Given the description of an element on the screen output the (x, y) to click on. 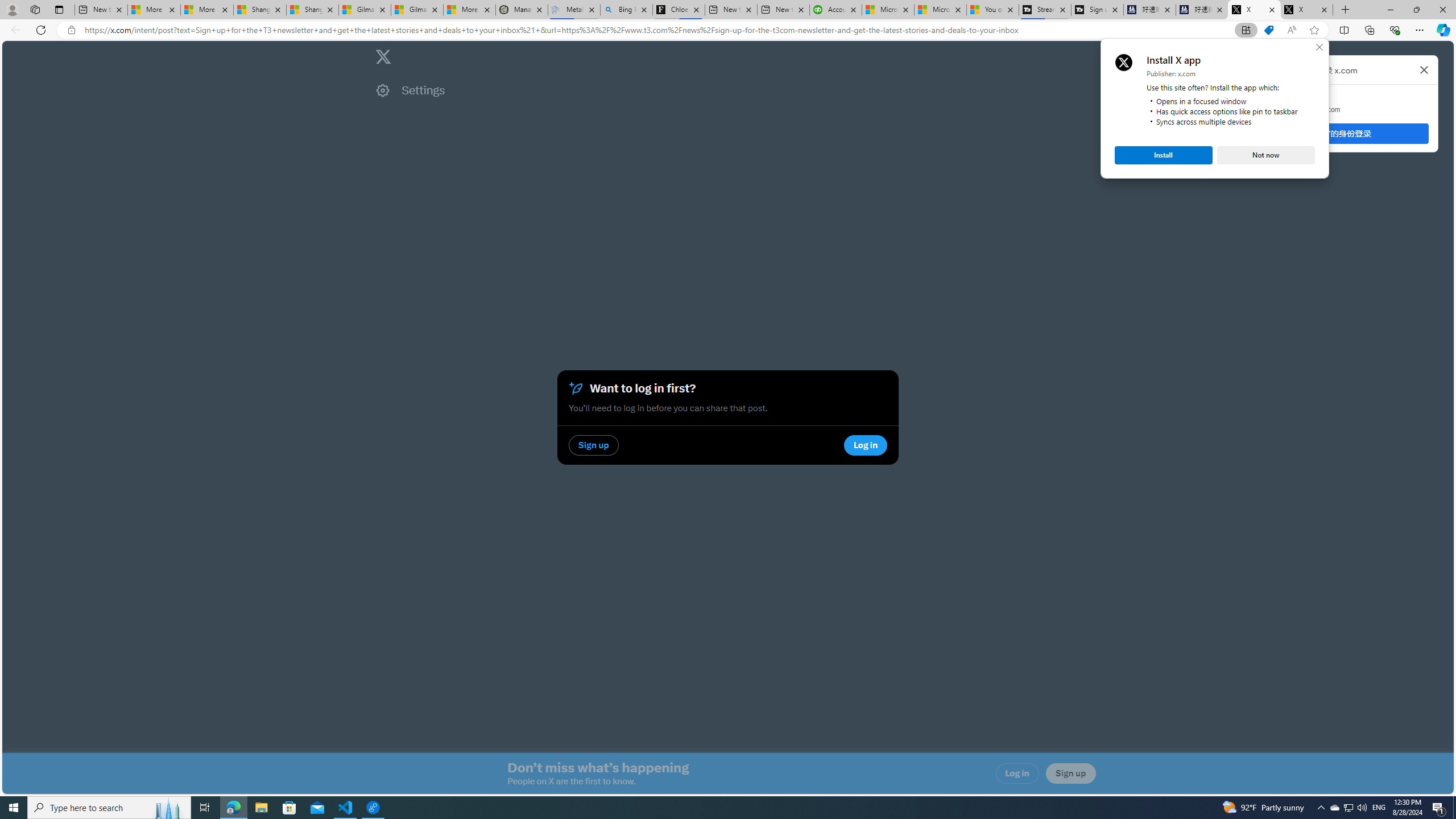
Microsoft Store (289, 807)
View site information (70, 29)
Edge Feedback - 1 running window (373, 807)
Manatee Mortality Statistics | FWC (521, 9)
Streaming Coverage | T3 (1044, 9)
Personal Profile (12, 9)
Running applications (1347, 807)
Microsoft Edge - 1 running window (706, 807)
Install (233, 807)
Action Center, 1 new notification (1163, 154)
Restore (1439, 807)
Visual Studio Code - 1 running window (1416, 9)
